Given the description of an element on the screen output the (x, y) to click on. 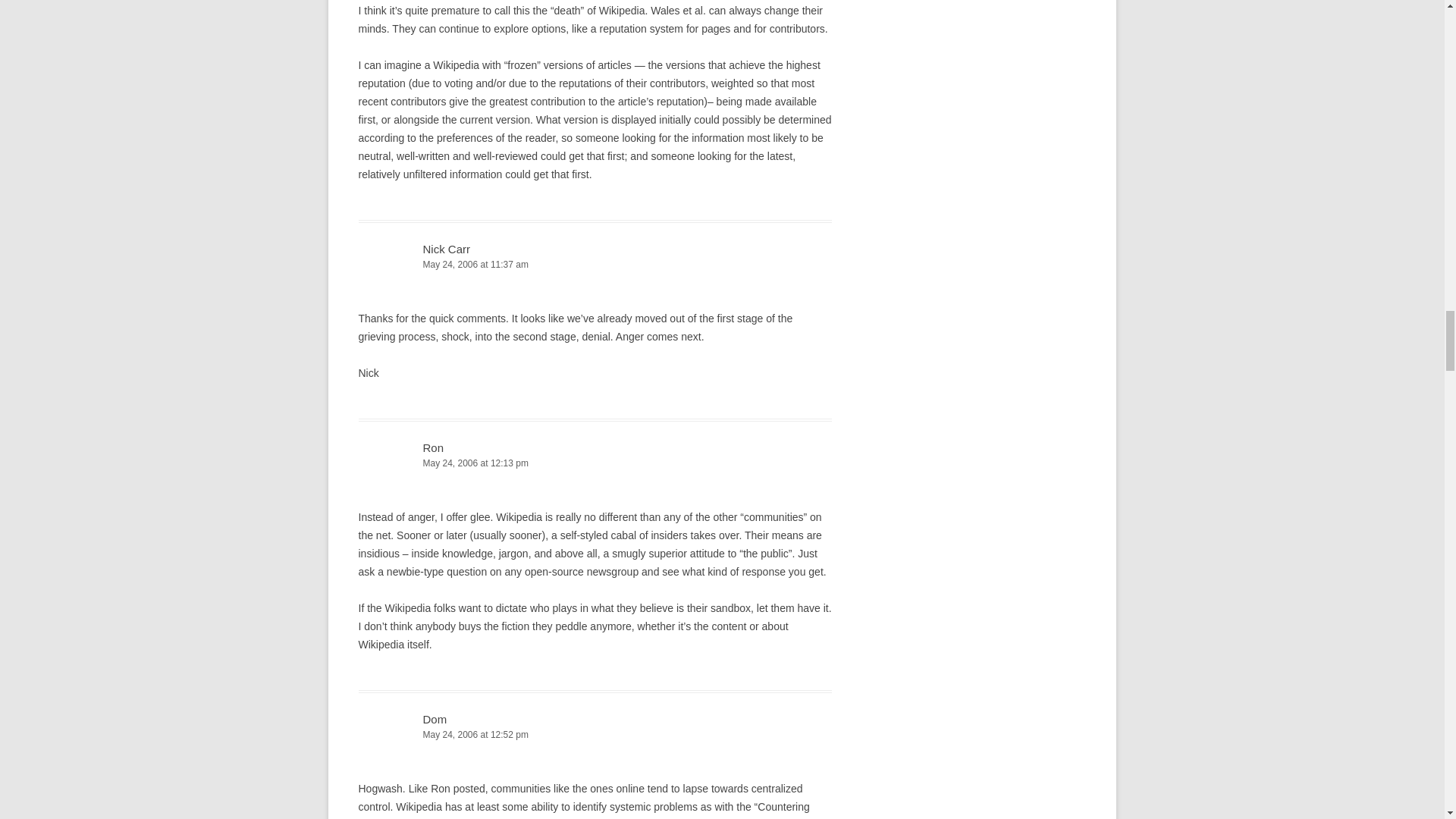
May 24, 2006 at 11:37 am (594, 264)
Ron (433, 447)
